Given the description of an element on the screen output the (x, y) to click on. 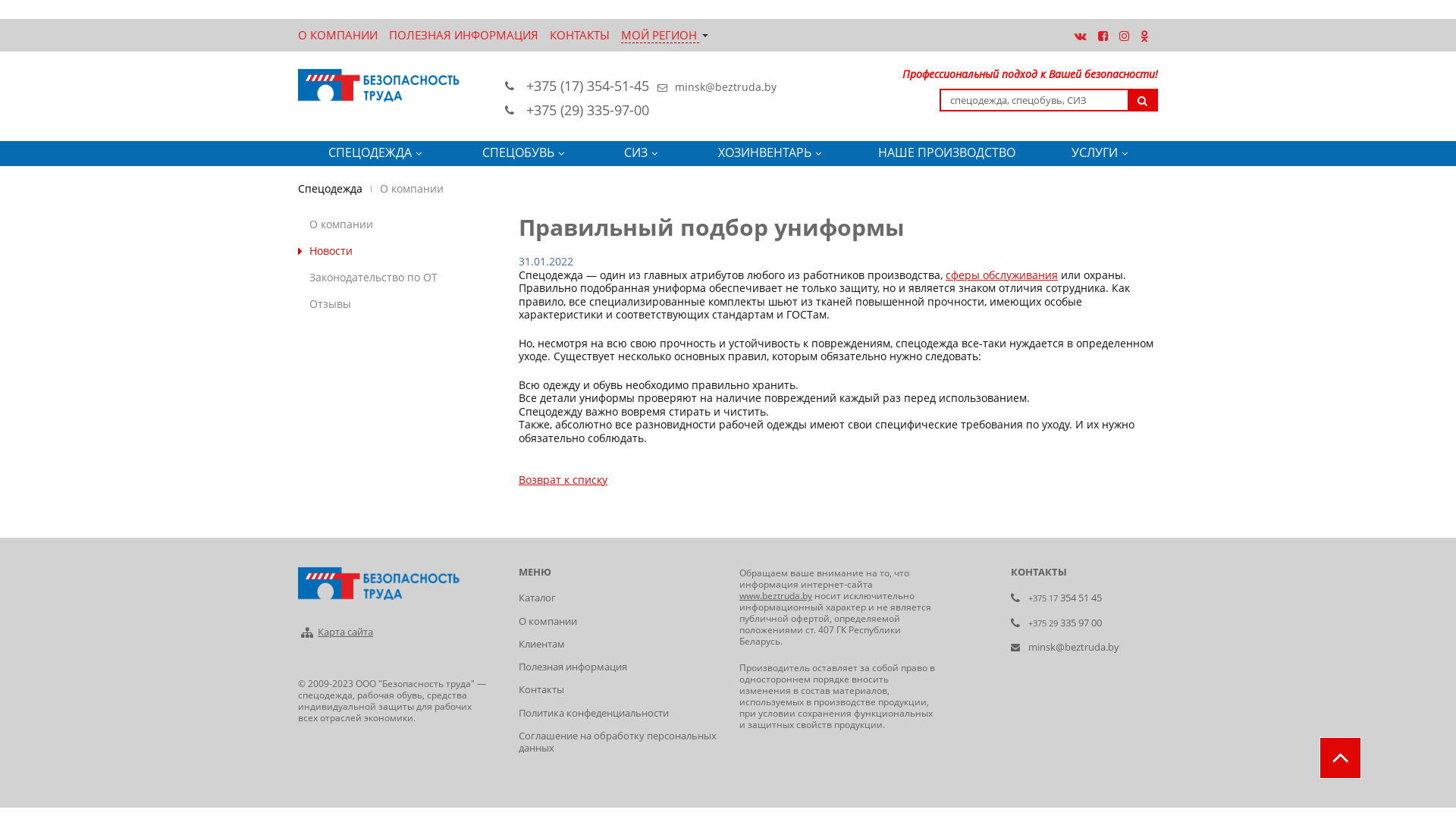
minsk@beztruda.by Element type: text (725, 86)
minsk@beztruda.by Element type: text (1073, 646)
+375 29 335 97 00 Element type: text (1064, 622)
+375 (29) 335-97-00 Element type: text (587, 109)
+375 (17) 354-51-45 Element type: text (587, 85)
www.beztruda.by Element type: text (775, 595)
+375 17 354 51 45 Element type: text (1064, 597)
